Given the description of an element on the screen output the (x, y) to click on. 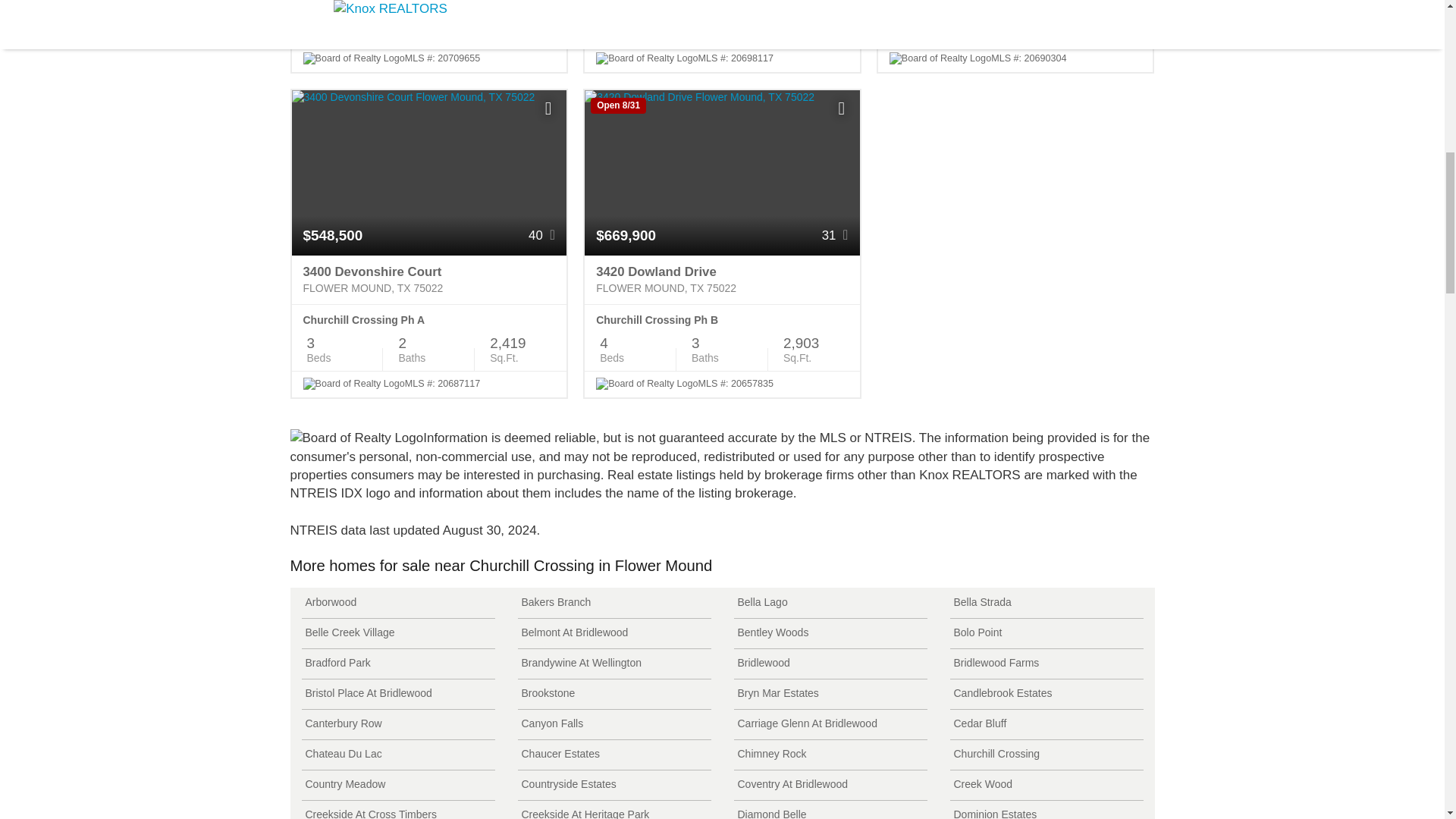
View Bakers Branch (613, 603)
3400 Devonshire Court Flower Mound,  TX 75022 (428, 279)
View Arborwood (398, 603)
3420 Dowland Drive Flower Mound,  TX 75022 (722, 279)
